Given the description of an element on the screen output the (x, y) to click on. 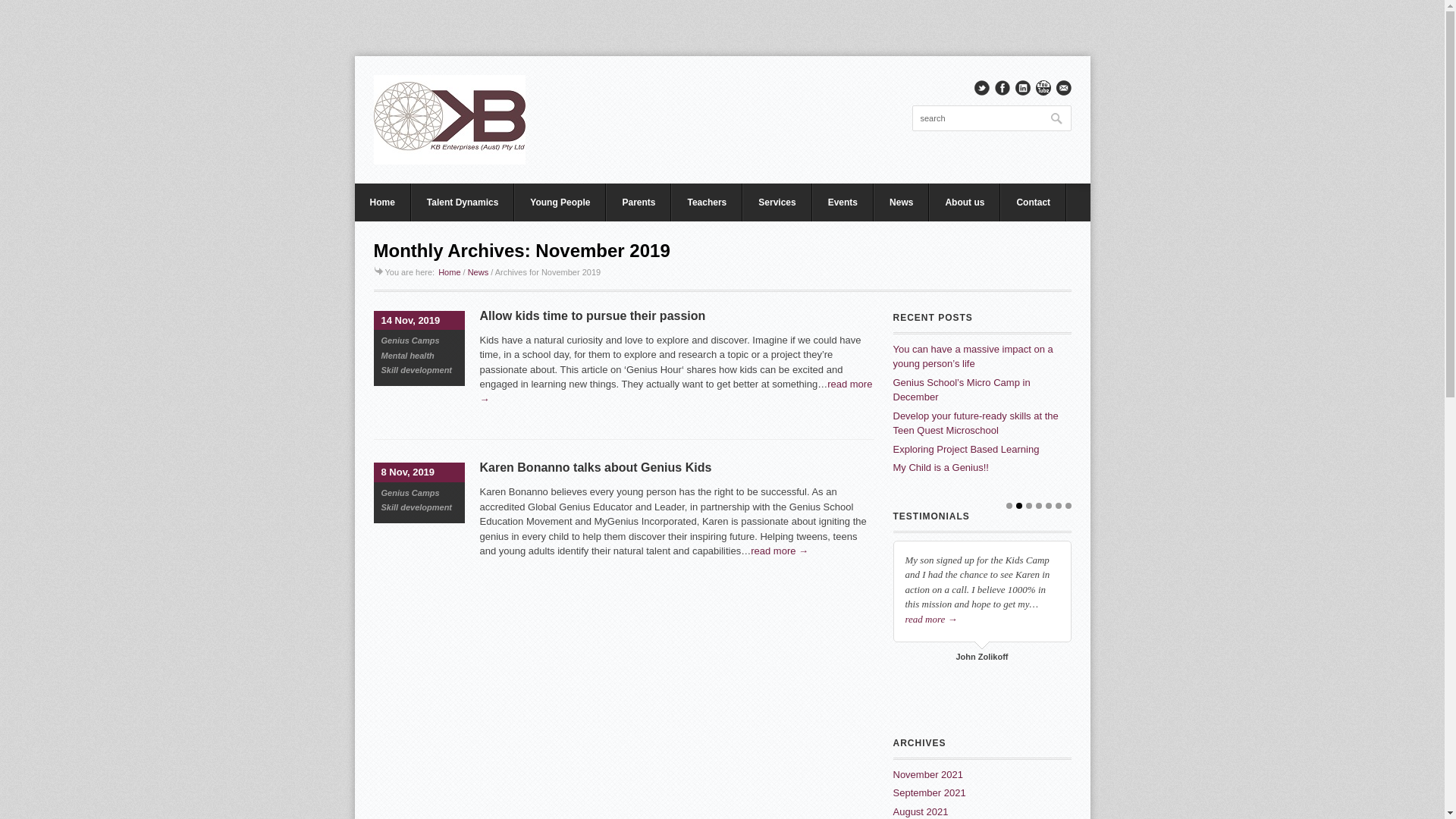
About us Element type: text (964, 202)
News Element type: text (478, 271)
Home Element type: text (449, 271)
Contact Element type: text (1033, 202)
Home Element type: text (382, 202)
Exploring Project Based Learning Element type: text (966, 449)
7 Element type: text (1067, 505)
KB Enterprises (Aust) Pty Ltd Element type: hover (448, 119)
5 Element type: text (1047, 505)
2 Element type: text (1019, 505)
News Element type: text (900, 202)
Genius Camps Element type: text (409, 340)
1 Element type: text (1008, 505)
Parents Element type: text (638, 202)
Allow kids time to pursue their passion Element type: text (592, 315)
Young People Element type: text (559, 202)
Genius Camps Element type: text (409, 492)
Skill development Element type: text (415, 506)
Services Element type: text (776, 202)
Talent Dynamics Element type: text (462, 202)
November 2021 Element type: text (928, 774)
Karen Bonanno talks about Genius Kids Element type: text (595, 467)
My Child is a Genius!! Element type: text (940, 467)
Skill development Element type: text (415, 369)
3 Element type: text (1028, 505)
August 2021 Element type: text (920, 811)
4 Element type: text (1038, 505)
Mental health Element type: text (406, 355)
Teachers Element type: text (706, 202)
Events Element type: text (842, 202)
6 Element type: text (1058, 505)
September 2021 Element type: text (929, 792)
